Given the description of an element on the screen output the (x, y) to click on. 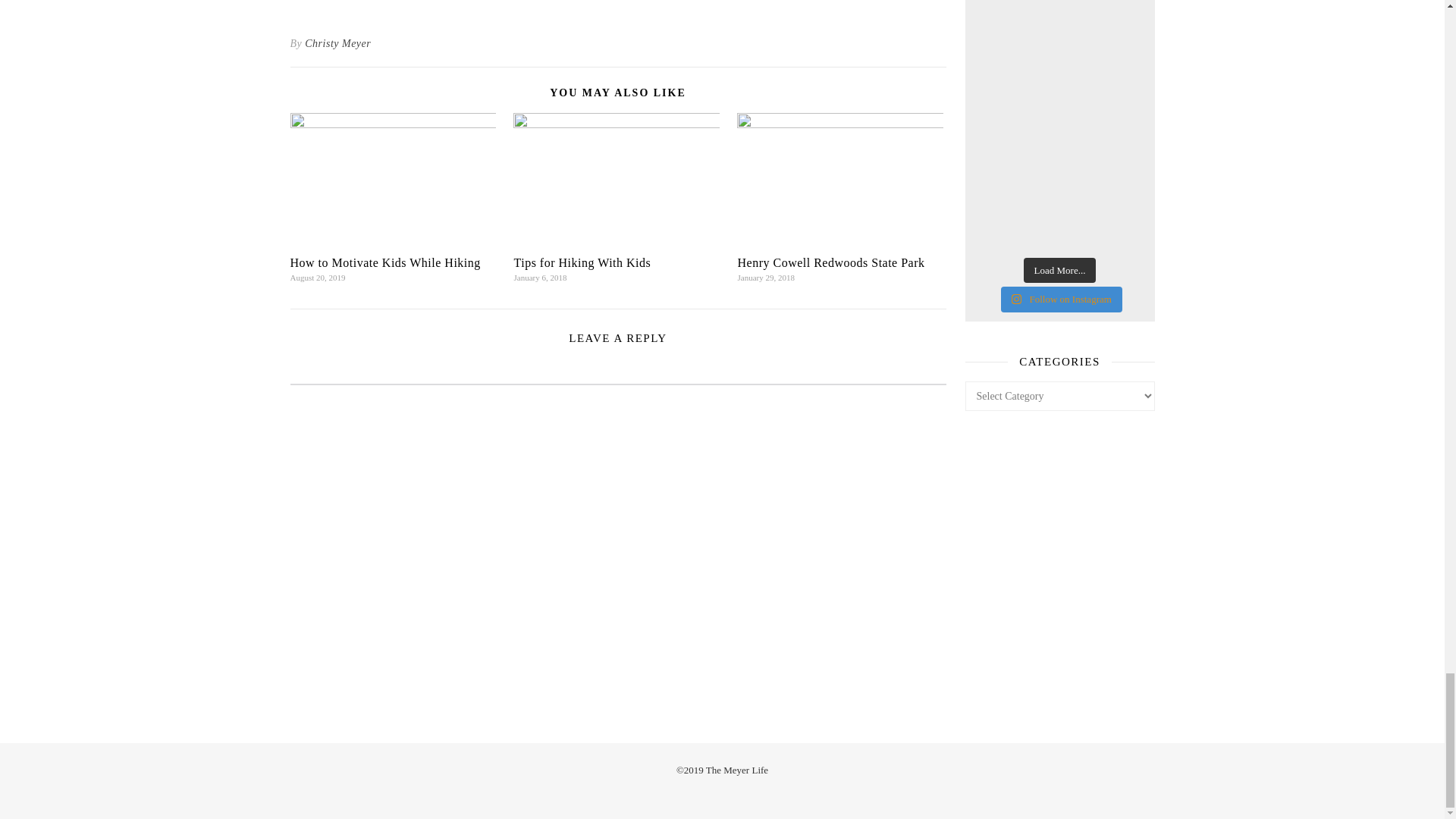
Posts by Christy Meyer (337, 43)
Christy Meyer (337, 43)
